Given the description of an element on the screen output the (x, y) to click on. 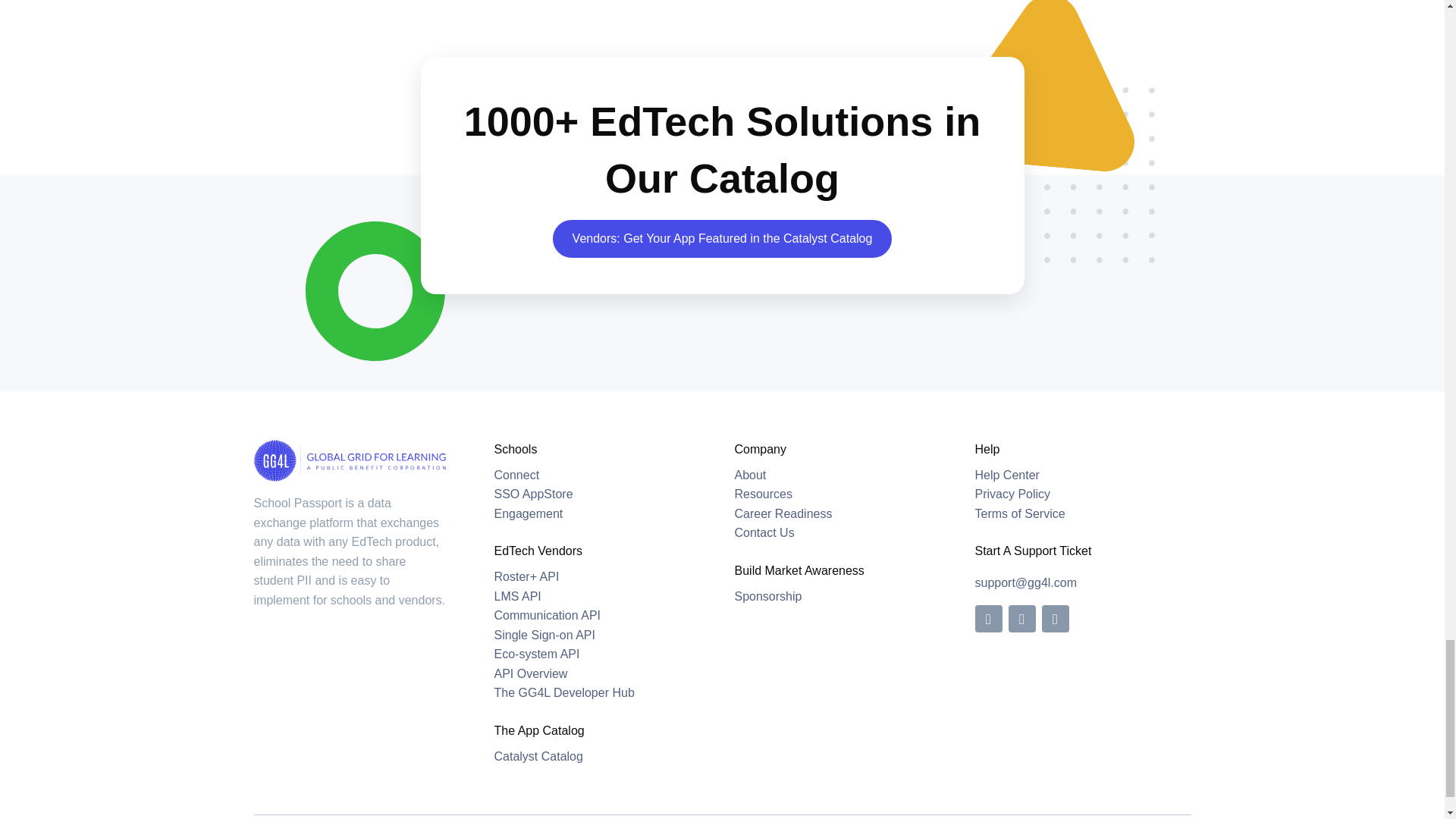
Engagement (534, 493)
Career Readiness (782, 513)
API Overview (531, 673)
About (749, 474)
Catalyst Catalog (539, 756)
Eco-system API (537, 653)
School Passport (517, 474)
Coursera (529, 513)
The GG4L Developer Hub (564, 692)
Contact Us (763, 532)
Single Sign-on API (545, 634)
Communication API (548, 615)
Resources (762, 493)
LMS API (518, 595)
